Given the description of an element on the screen output the (x, y) to click on. 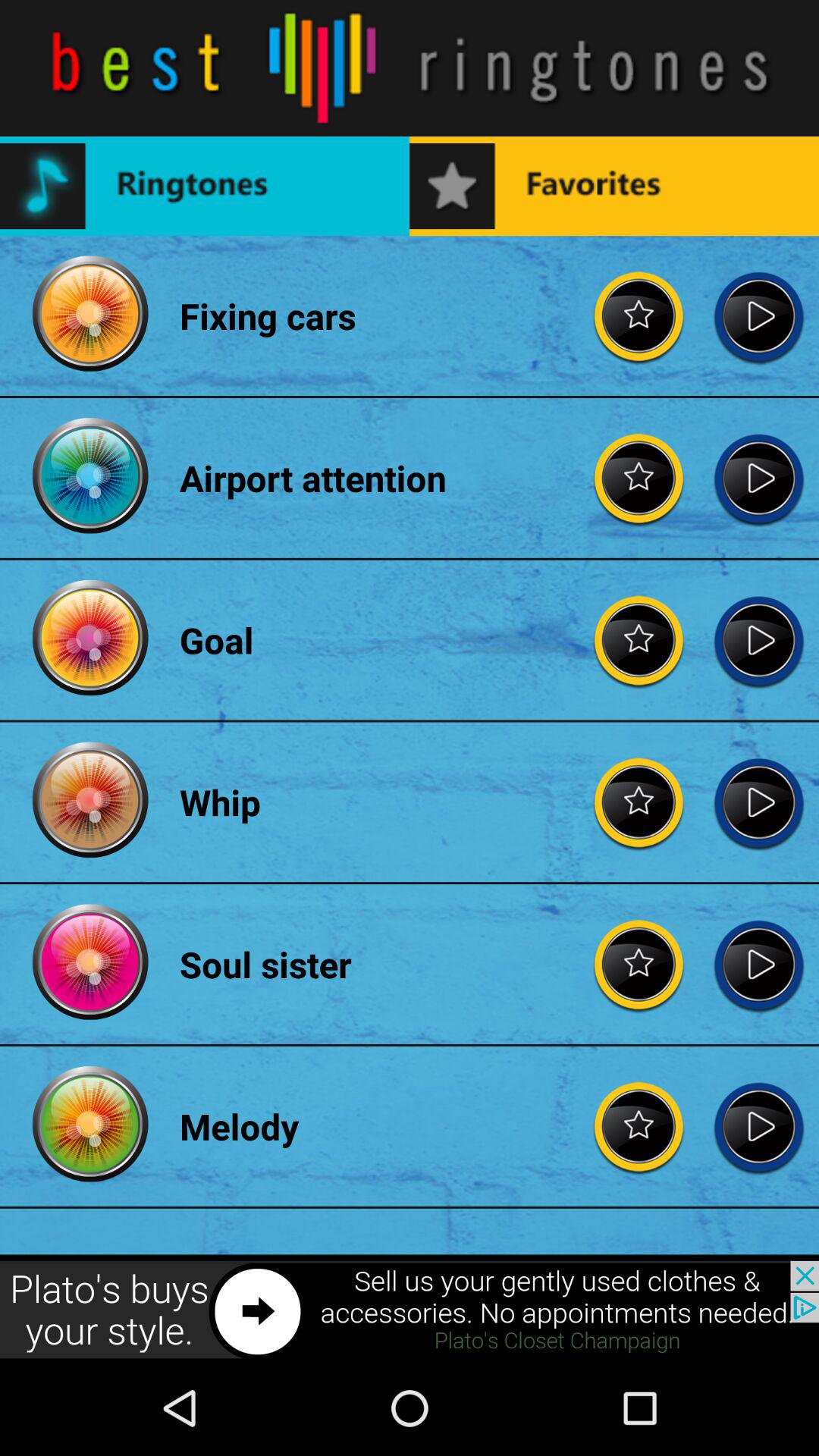
rate goal star (639, 639)
